Given the description of an element on the screen output the (x, y) to click on. 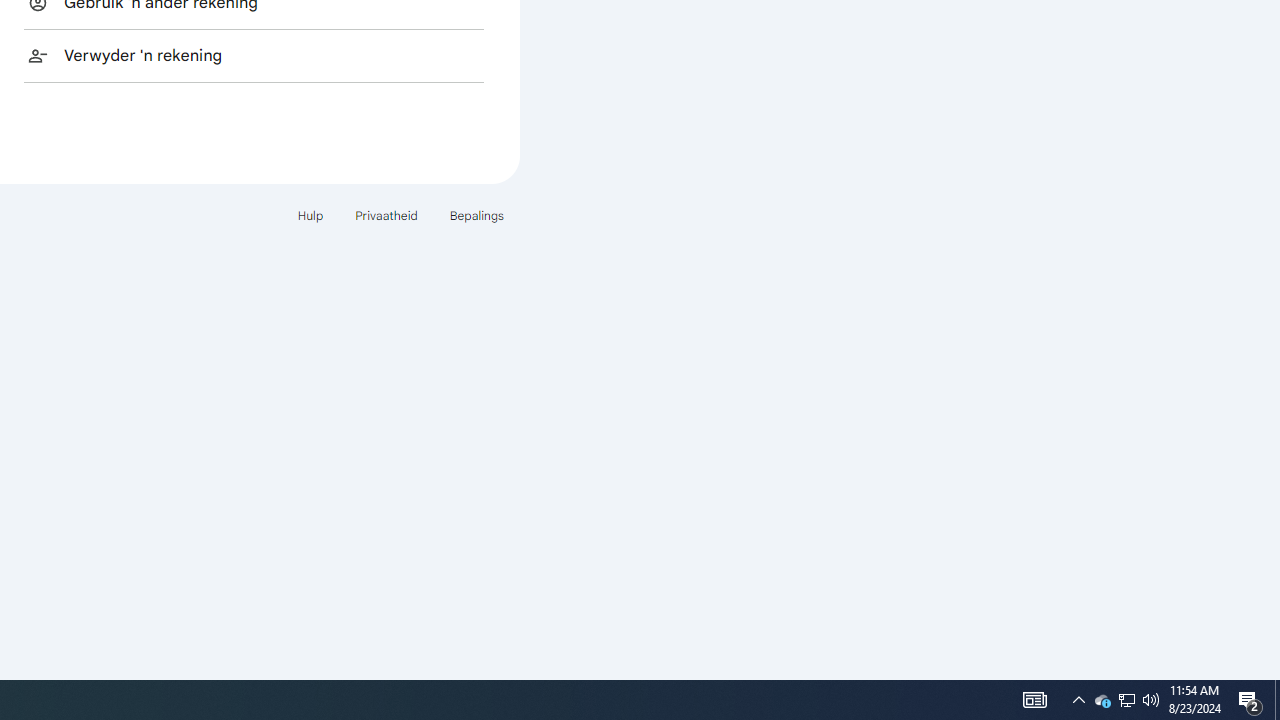
Show desktop (1277, 699)
Hulp (310, 214)
Verwyder 'n rekening (253, 55)
User Promoted Notification Area (1126, 699)
Q2790: 100% (1151, 699)
Bepalings (475, 214)
Privaatheid (386, 214)
Notification Chevron (1102, 699)
Action Center, 2 new notifications (1078, 699)
AutomationID: 4105 (1126, 699)
